Given the description of an element on the screen output the (x, y) to click on. 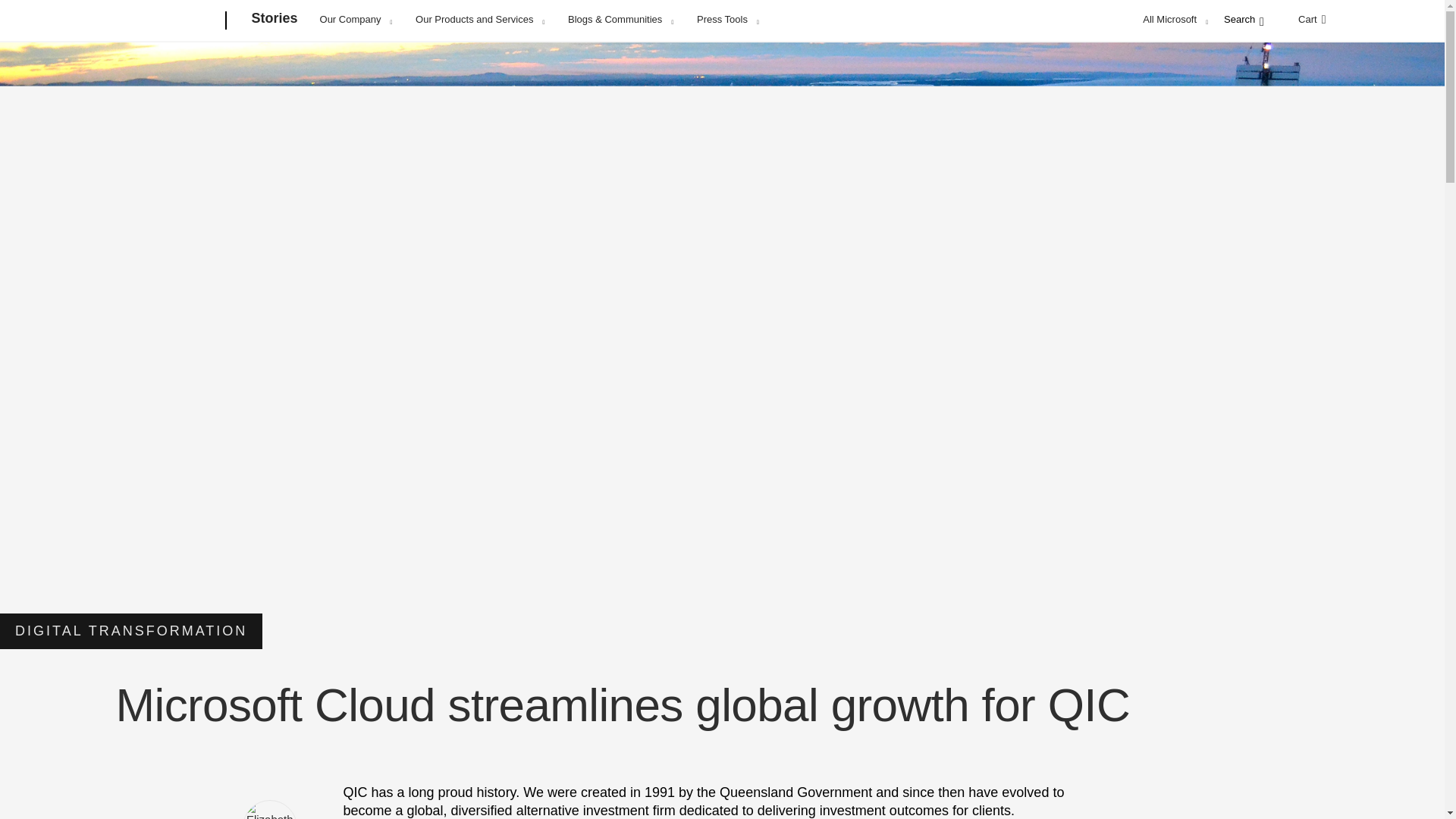
Stories (274, 20)
Our Company (355, 18)
Microsoft (167, 20)
Our Products and Services (479, 18)
